Given the description of an element on the screen output the (x, y) to click on. 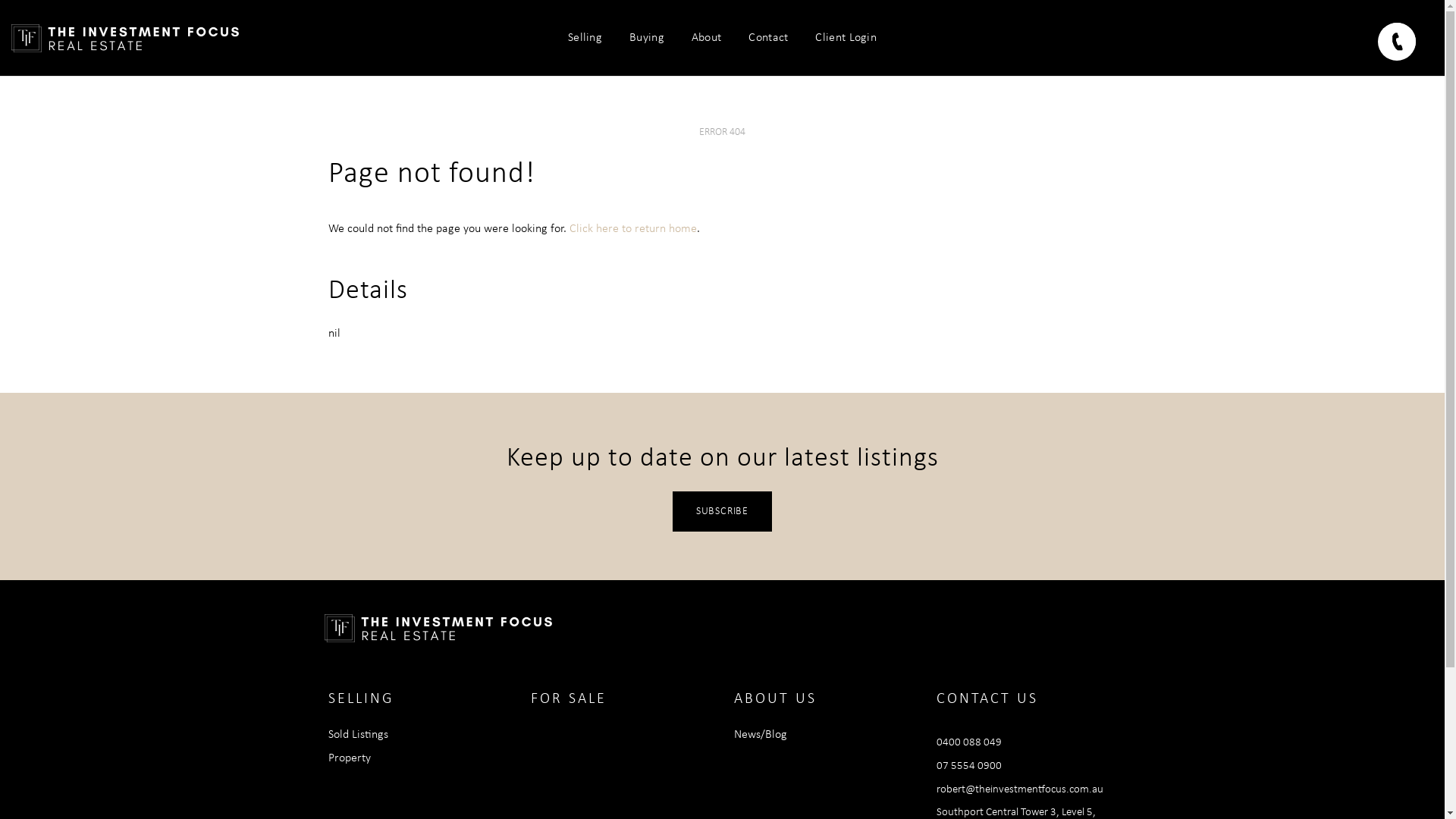
Sold Listings Element type: text (357, 734)
SUBSCRIBE Element type: text (721, 511)
Contact Element type: text (767, 37)
Click here to return home Element type: text (632, 228)
FOR SALE Element type: text (568, 698)
ABOUT US Element type: text (775, 698)
Buying Element type: text (646, 37)
Selling Element type: text (584, 37)
News/Blog Element type: text (760, 734)
0400 088 049 Element type: text (968, 742)
Property Element type: text (348, 758)
CONTACT US Element type: text (987, 698)
robert@theinvestmentfocus.com.au Element type: text (1019, 789)
SELLING Element type: text (360, 698)
About Element type: text (706, 37)
07 5554 0900 Element type: text (968, 765)
Client Login Element type: text (845, 37)
